Given the description of an element on the screen output the (x, y) to click on. 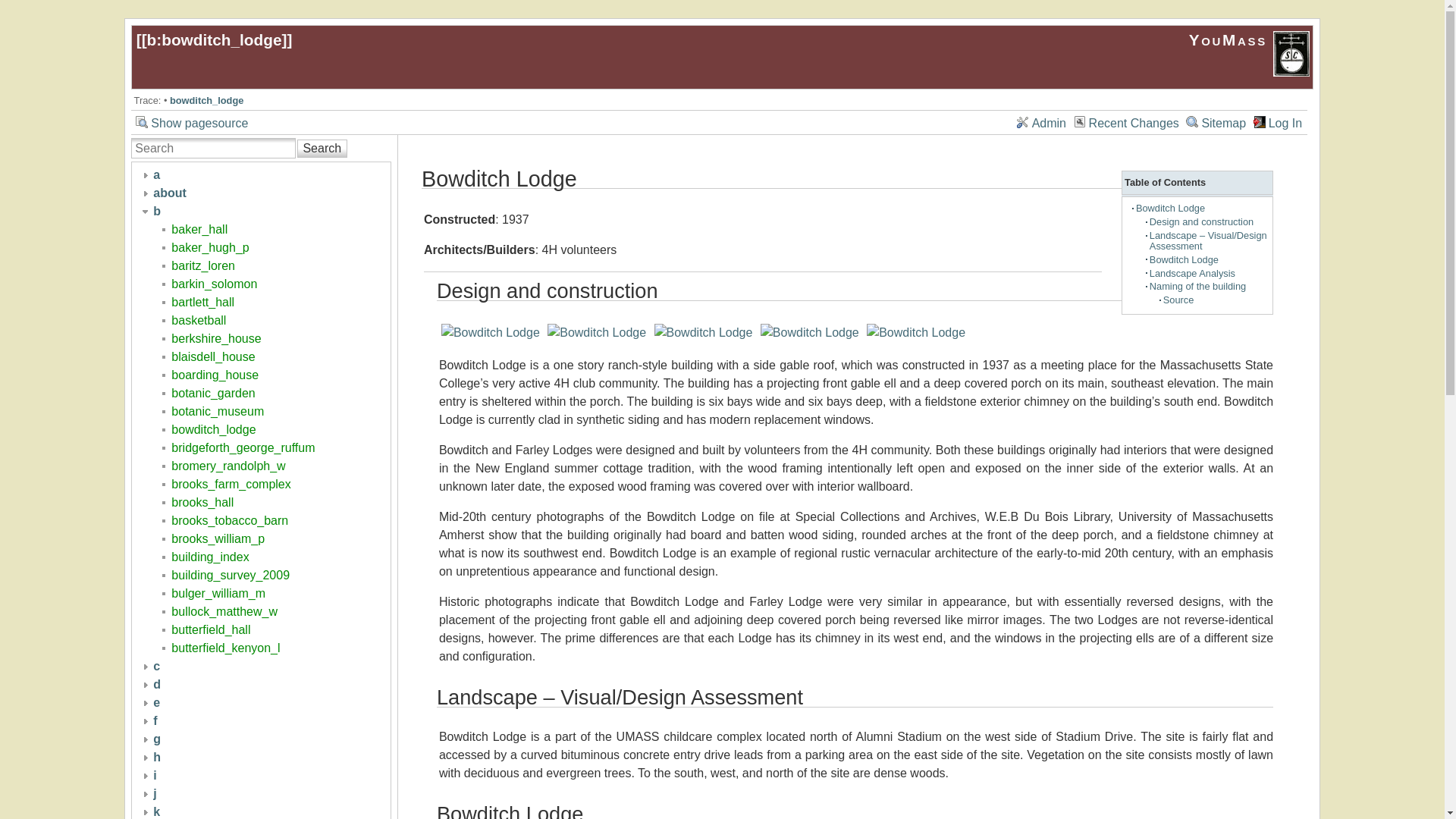
about (169, 192)
basketball (198, 319)
Admin (1040, 122)
Log In (1277, 122)
YouMass (1249, 39)
Sitemap (1216, 122)
Admin (1040, 122)
Show pagesource (191, 122)
about (169, 192)
Search (321, 148)
Log In (1277, 122)
Recent Changes (1126, 122)
Search (321, 148)
